Given the description of an element on the screen output the (x, y) to click on. 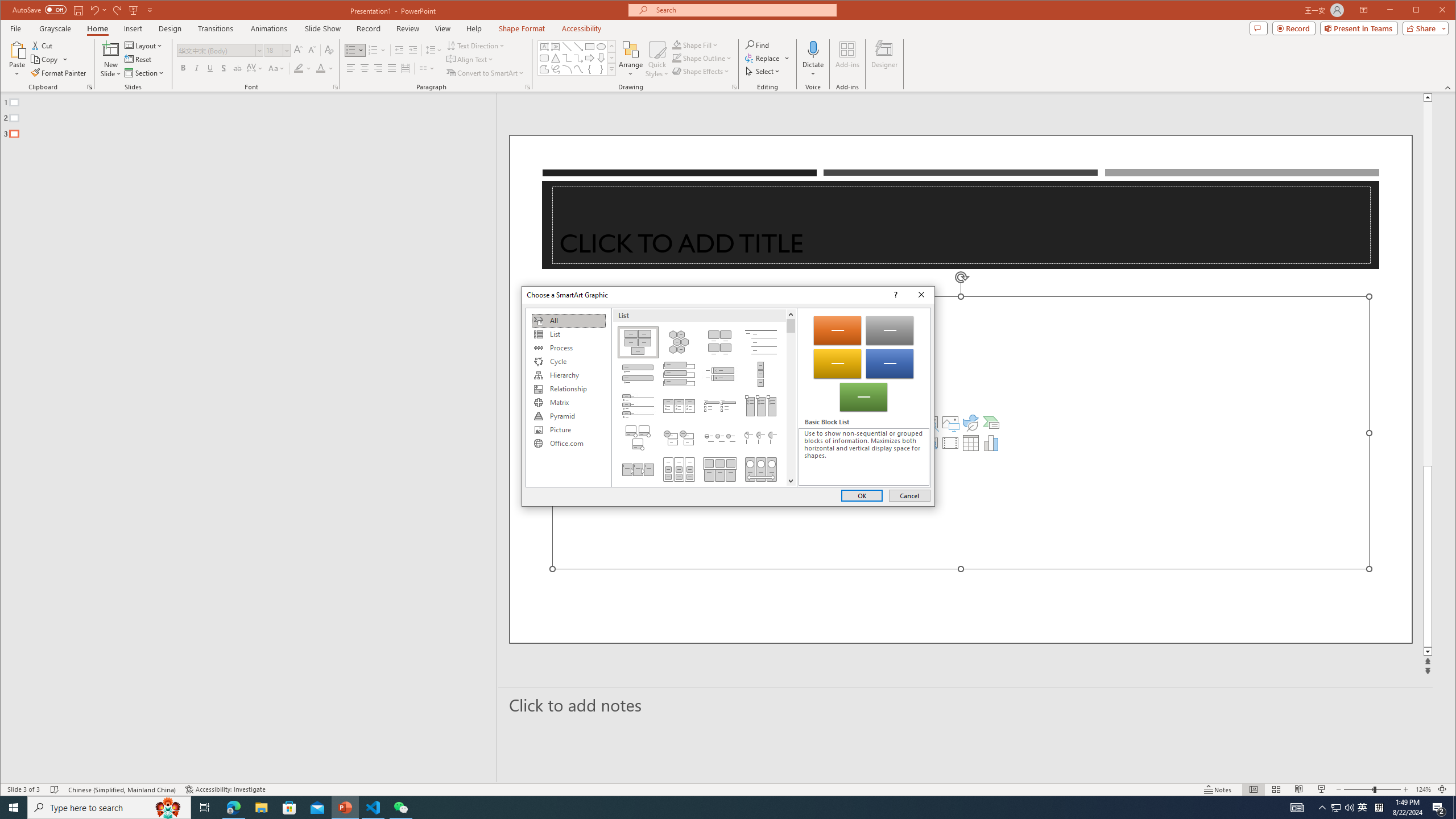
Office Clipboard... (89, 86)
Arc (567, 69)
Align Text (470, 59)
Align Left (350, 68)
Replace... (768, 57)
Maximize (1432, 11)
Square Accent List (719, 405)
Alternating Hexagons (678, 342)
Arrow: Down (601, 57)
Clear Formatting (328, 49)
Text Highlight Color Yellow (298, 68)
Vertical Bracket List (719, 373)
Graphic Layouts (703, 397)
